Given the description of an element on the screen output the (x, y) to click on. 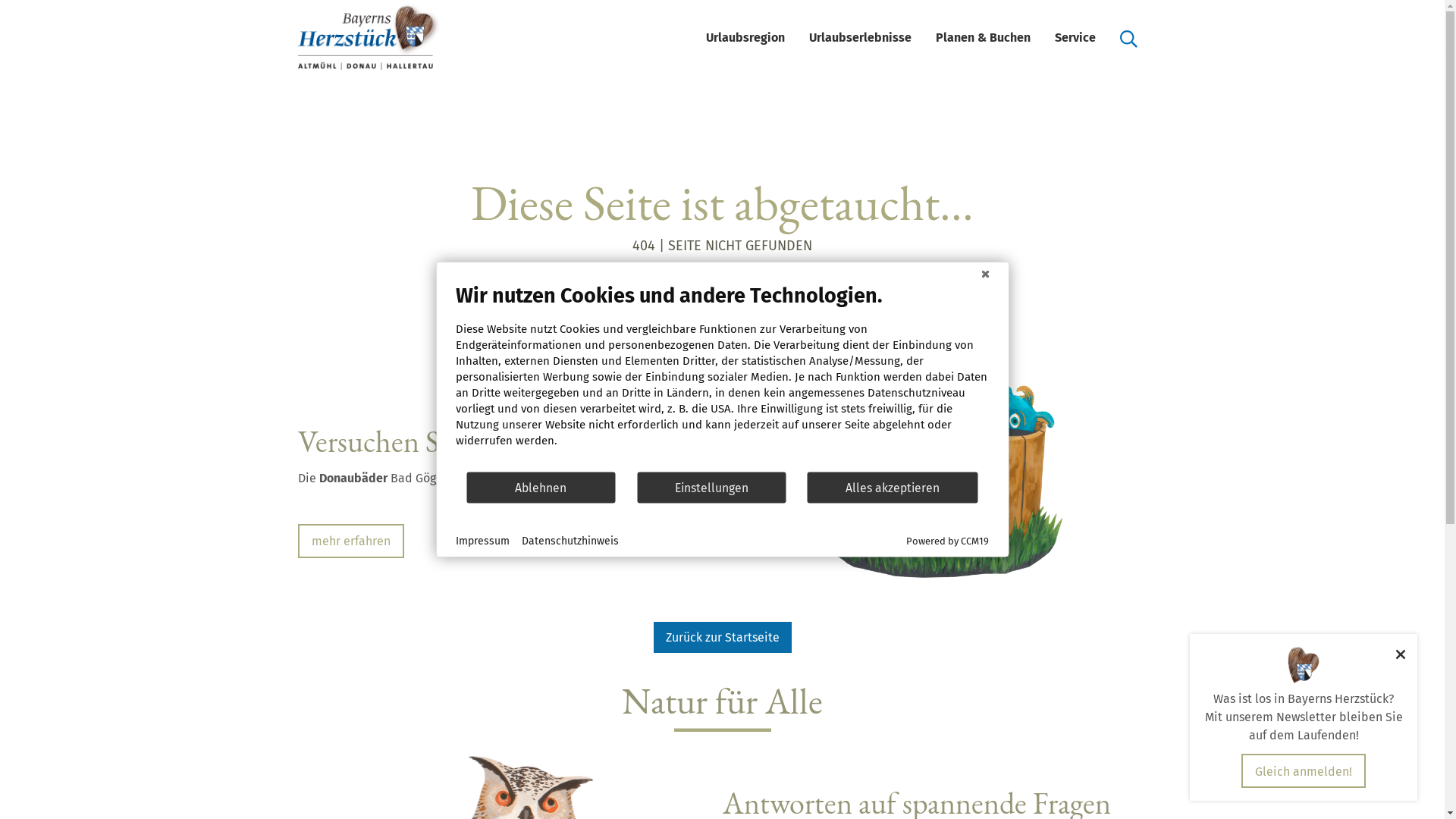
mehr erfahren Element type: text (350, 541)
Service Element type: text (1074, 37)
Urlaubsregion Element type: text (744, 37)
Ablehnen Element type: text (540, 486)
Alles akzeptieren Element type: text (892, 486)
Gleich anmelden! Element type: text (1303, 770)
Urlaubserlebnisse Element type: text (859, 37)
Einstellungen Element type: text (711, 486)
Close Element type: hover (984, 273)
Planen & Buchen Element type: text (982, 37)
Powered by CCM19 Element type: text (947, 540)
Impressum Element type: text (482, 540)
Datenschutzhinweis Element type: text (569, 540)
Suchen Element type: text (1128, 37)
